Given the description of an element on the screen output the (x, y) to click on. 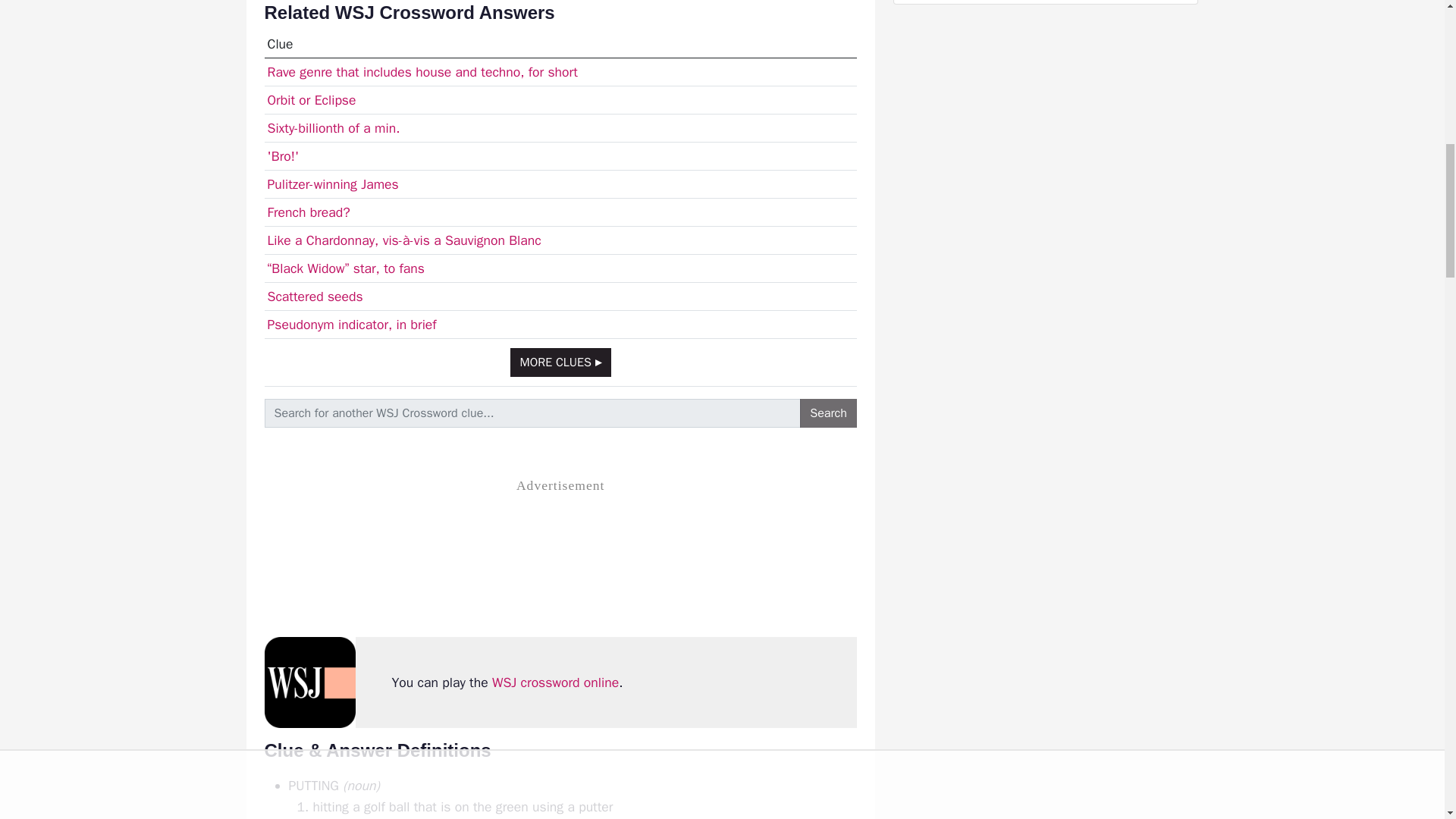
Search (828, 412)
